Given the description of an element on the screen output the (x, y) to click on. 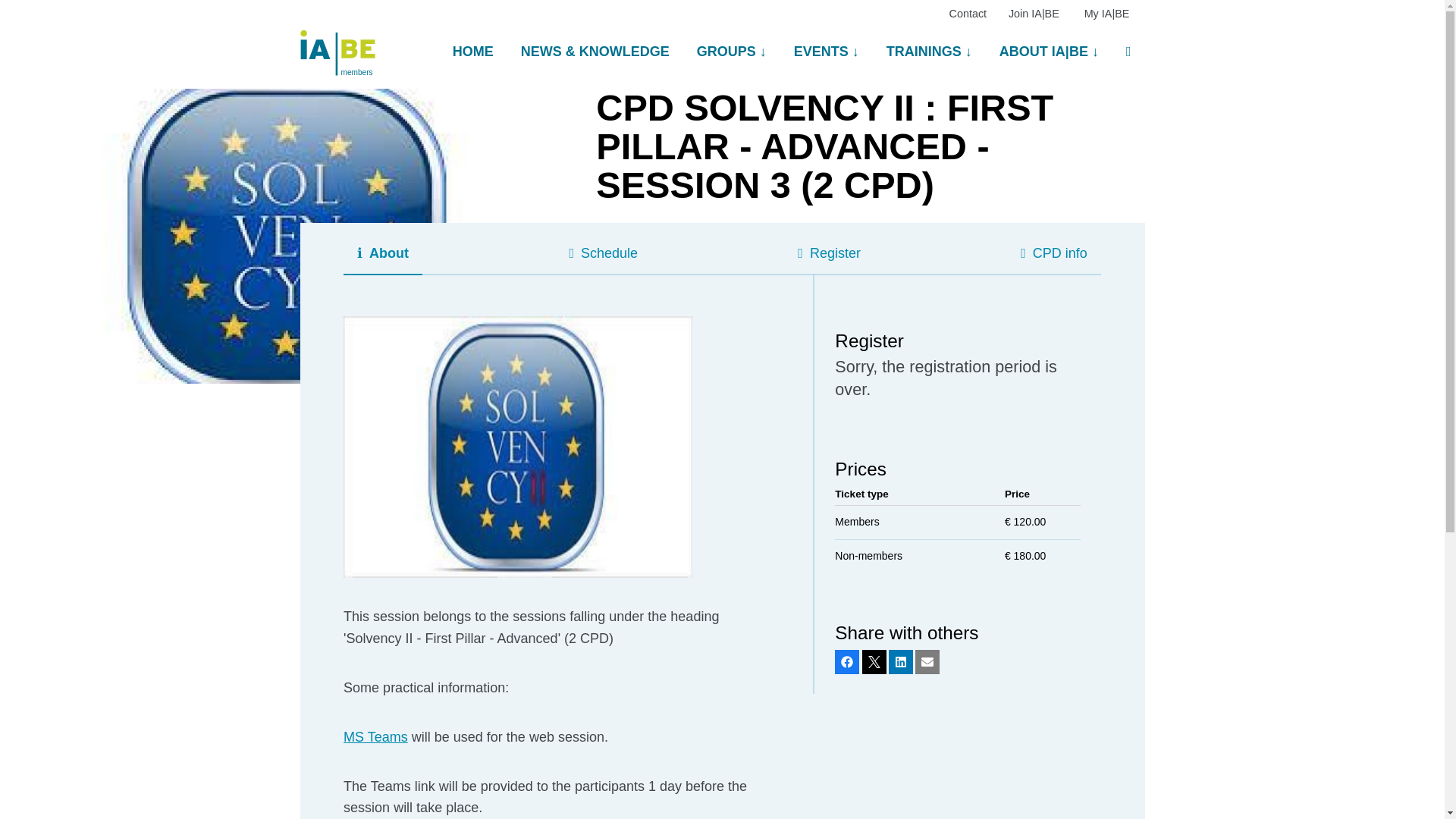
EVENTS (826, 51)
Schedule (602, 252)
GROUPS (731, 51)
Contact (968, 13)
Register (829, 252)
members (337, 43)
About (382, 252)
CPD info (1053, 252)
HOME (472, 51)
TRAININGS (928, 51)
